Given the description of an element on the screen output the (x, y) to click on. 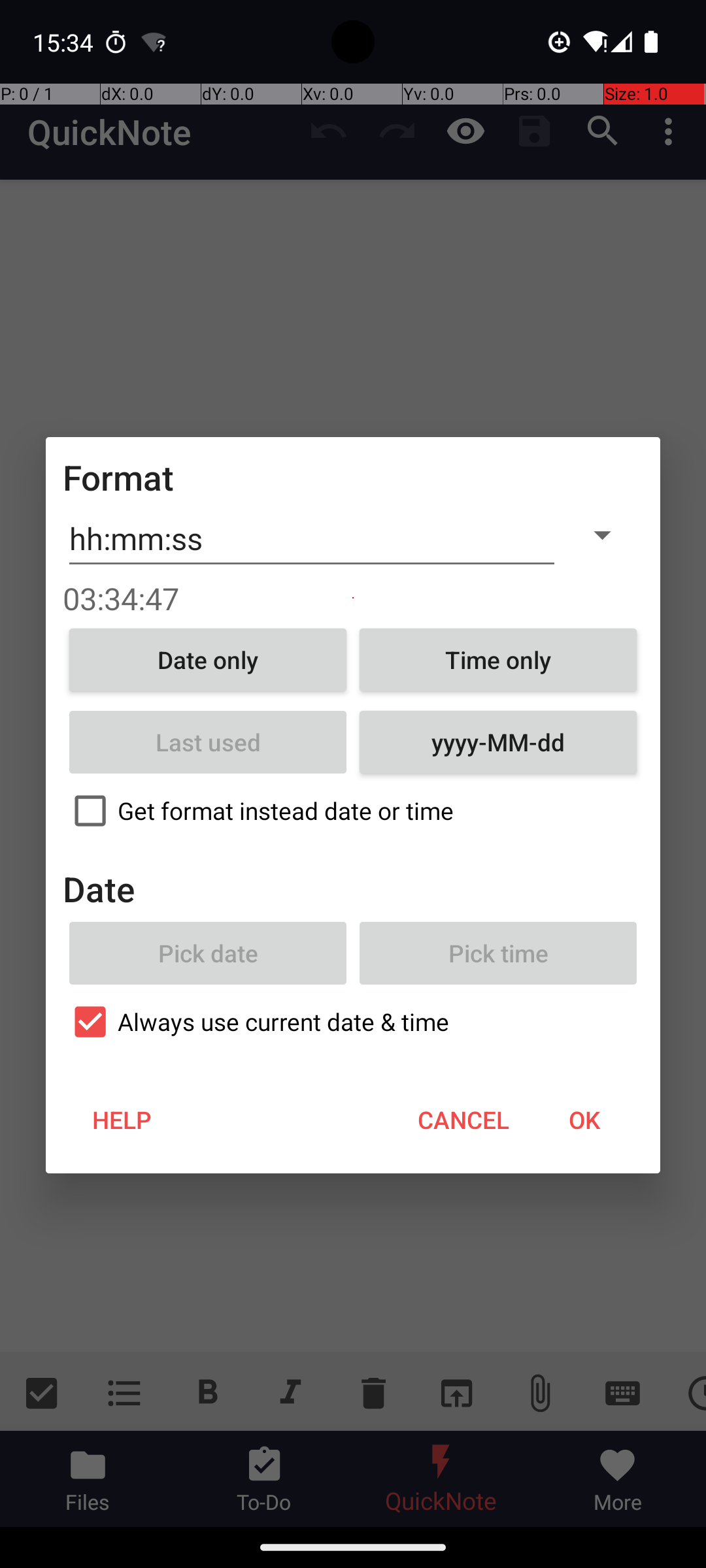
hh:mm:ss Element type: android.widget.EditText (311, 538)
03:34:47 Element type: android.widget.TextView (352, 597)
